Given the description of an element on the screen output the (x, y) to click on. 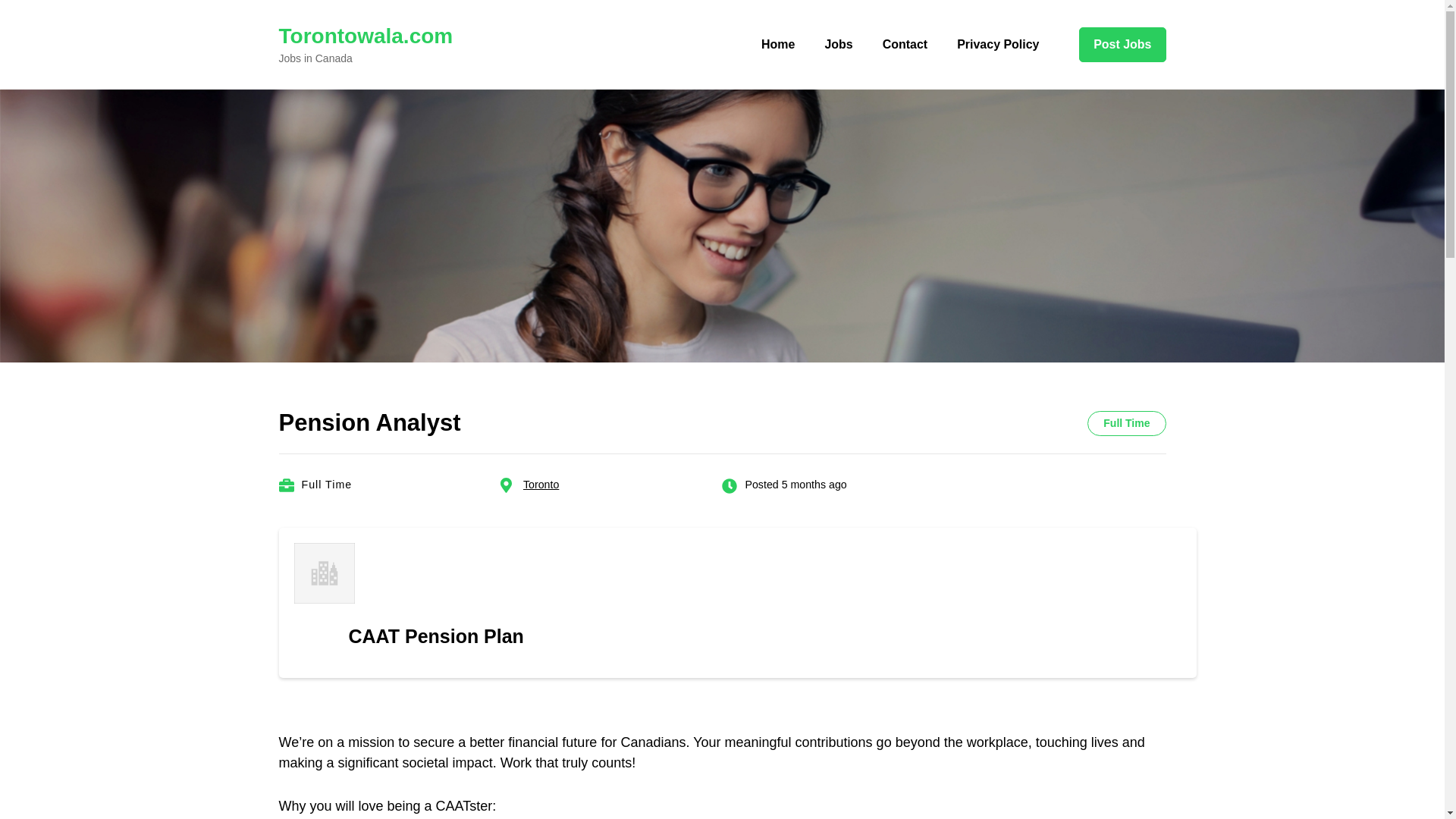
Toronto (540, 484)
Jobs (837, 44)
Home (778, 44)
Contact (904, 44)
Post Jobs (1122, 44)
Torontowala.com (365, 35)
Privacy Policy (997, 44)
